Given the description of an element on the screen output the (x, y) to click on. 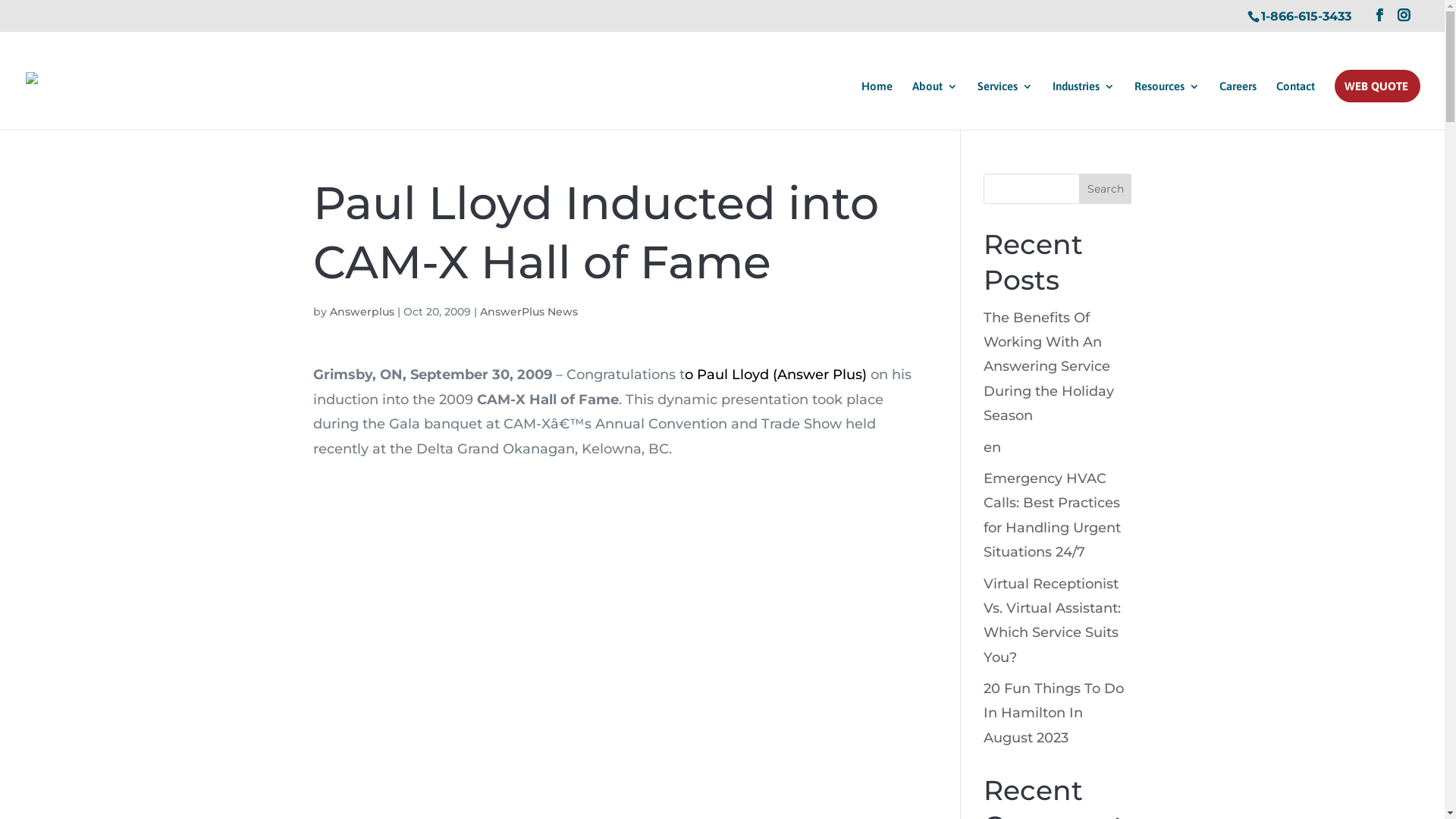
en Element type: text (992, 447)
Search Element type: text (1105, 188)
Contact Element type: text (1295, 105)
Read More (PDF) > Element type: text (738, 448)
Services Element type: text (1004, 105)
Home Element type: text (876, 105)
About Element type: text (934, 105)
Careers Element type: text (1237, 105)
1-866-615-3433 Element type: text (1306, 16)
AnswerPlus News Element type: text (528, 311)
20 Fun Things To Do In Hamilton In August 2023 Element type: text (1053, 713)
Answerplus Element type: text (361, 311)
Resources Element type: text (1166, 105)
WEB QUOTE Element type: text (1376, 105)
Industries Element type: text (1083, 105)
